Given the description of an element on the screen output the (x, y) to click on. 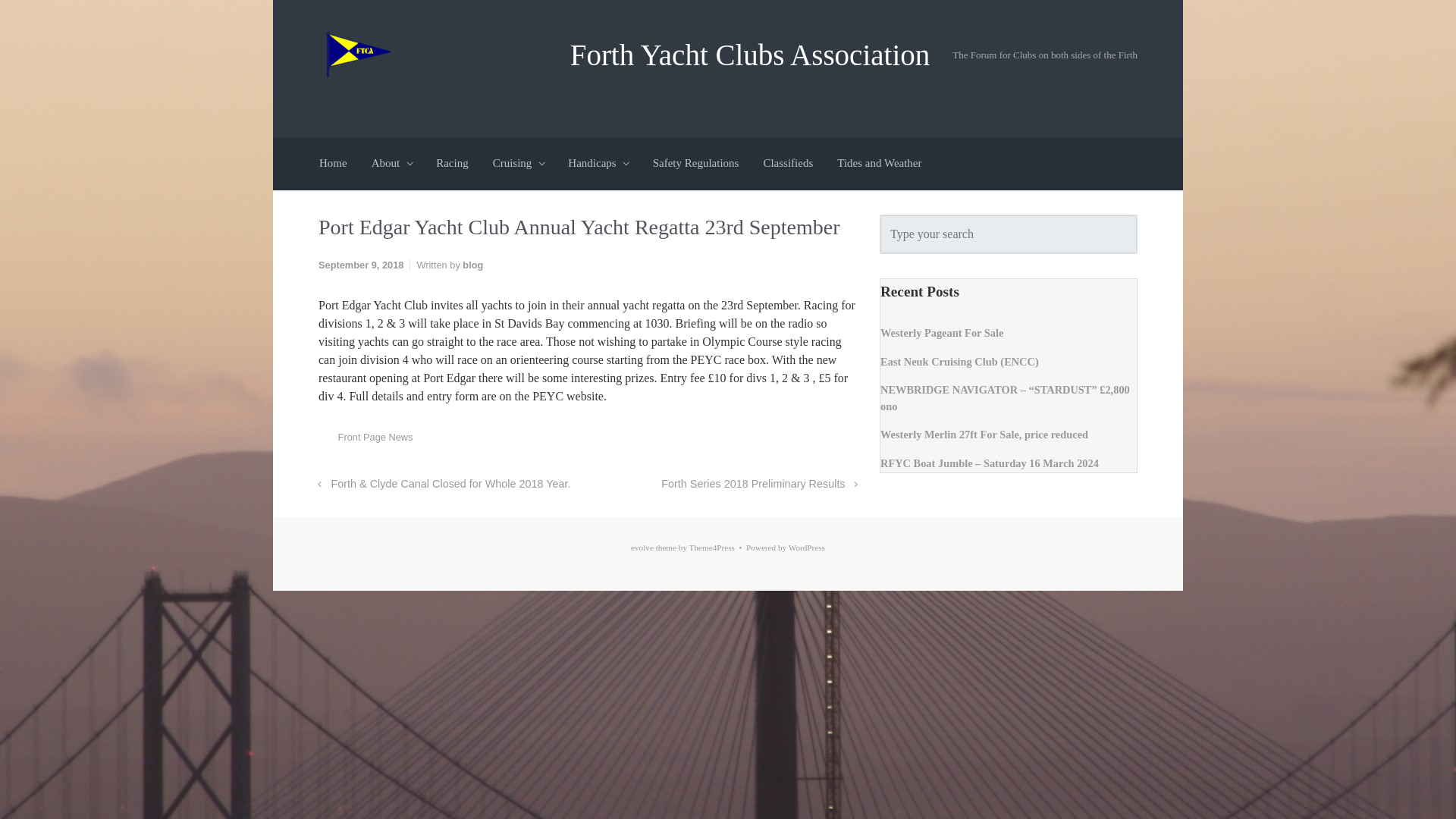
Racing (451, 163)
Skip to main content (17, 8)
Home (333, 163)
View all posts by blog (473, 265)
Forth Yacht Clubs Association (750, 53)
About (392, 163)
Cruising (518, 163)
Handicaps (597, 163)
